Given the description of an element on the screen output the (x, y) to click on. 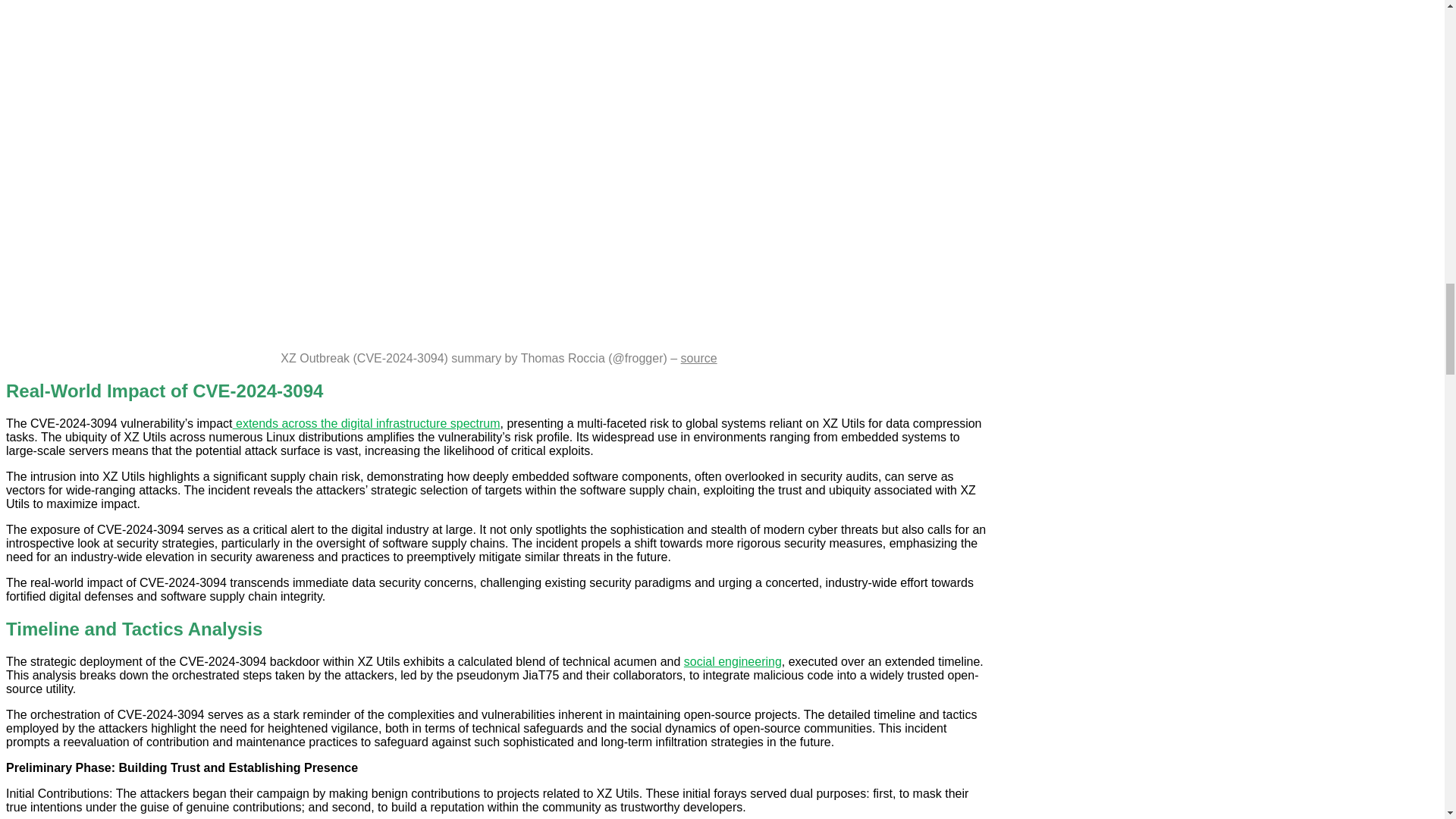
social engineering (732, 661)
source (699, 358)
extends across the digital infrastructure spectrum (366, 422)
